Given the description of an element on the screen output the (x, y) to click on. 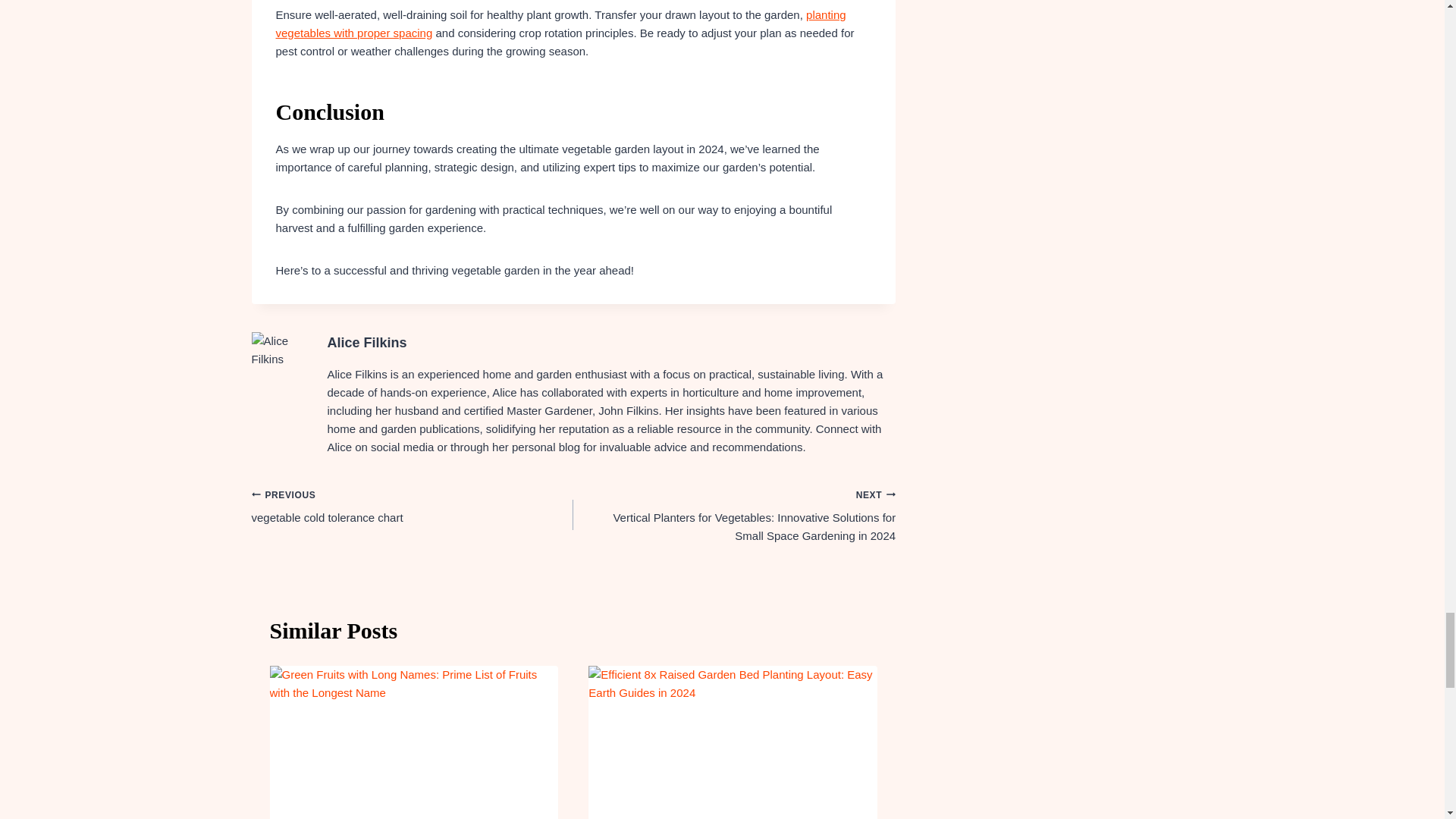
Alice Filkins (367, 342)
planting vegetables with proper spacing (560, 23)
Posts by Alice Filkins (367, 342)
